Given the description of an element on the screen output the (x, y) to click on. 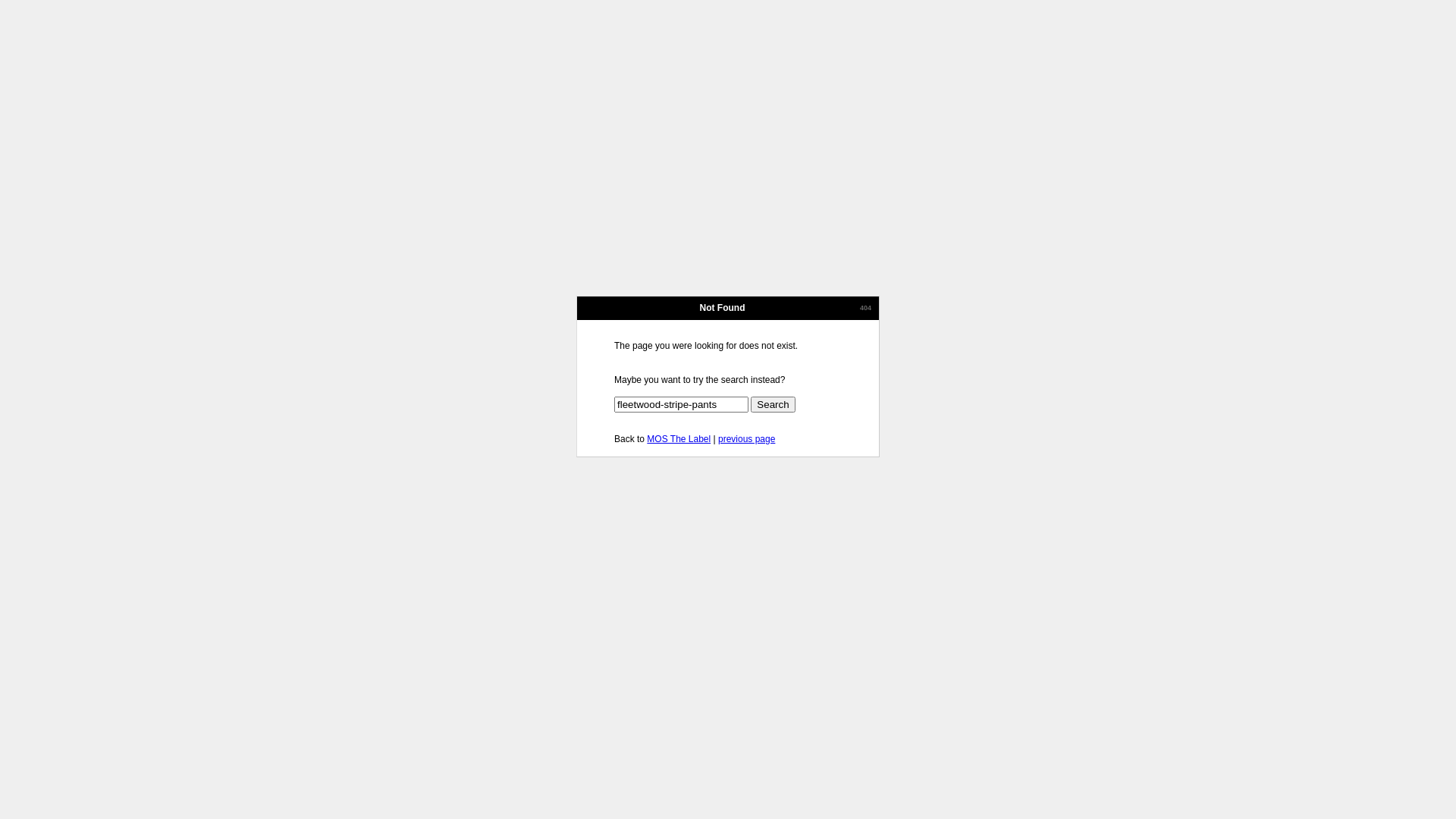
Search Element type: text (772, 404)
previous page Element type: text (746, 438)
MOS The Label Element type: text (678, 438)
